Given the description of an element on the screen output the (x, y) to click on. 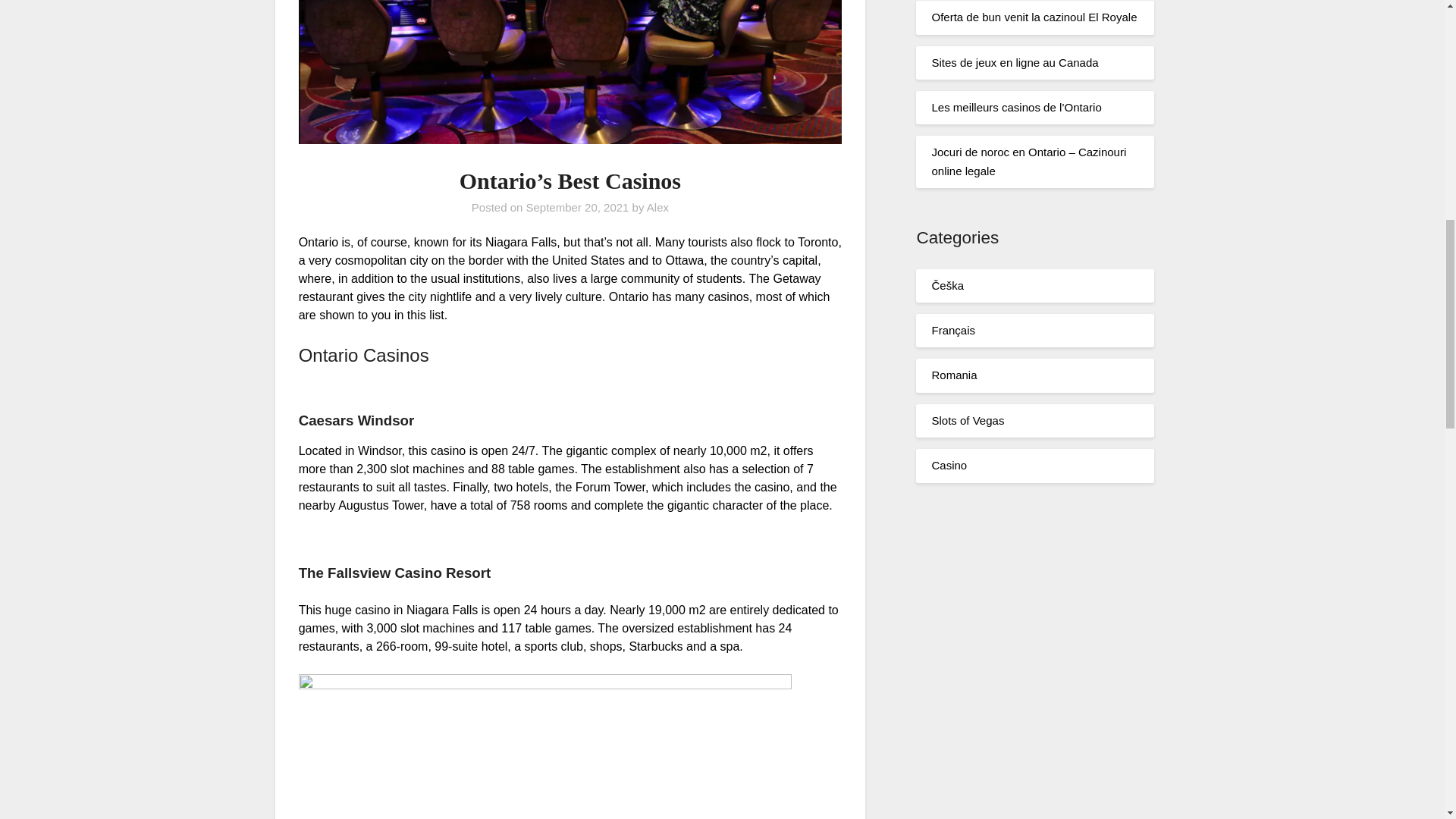
Slots of Vegas (967, 420)
Oferta de bun venit la cazinoul El Royale (1034, 16)
Sites de jeux en ligne au Canada (1014, 62)
Romania (953, 374)
Alex (657, 206)
September 20, 2021 (576, 206)
